Given the description of an element on the screen output the (x, y) to click on. 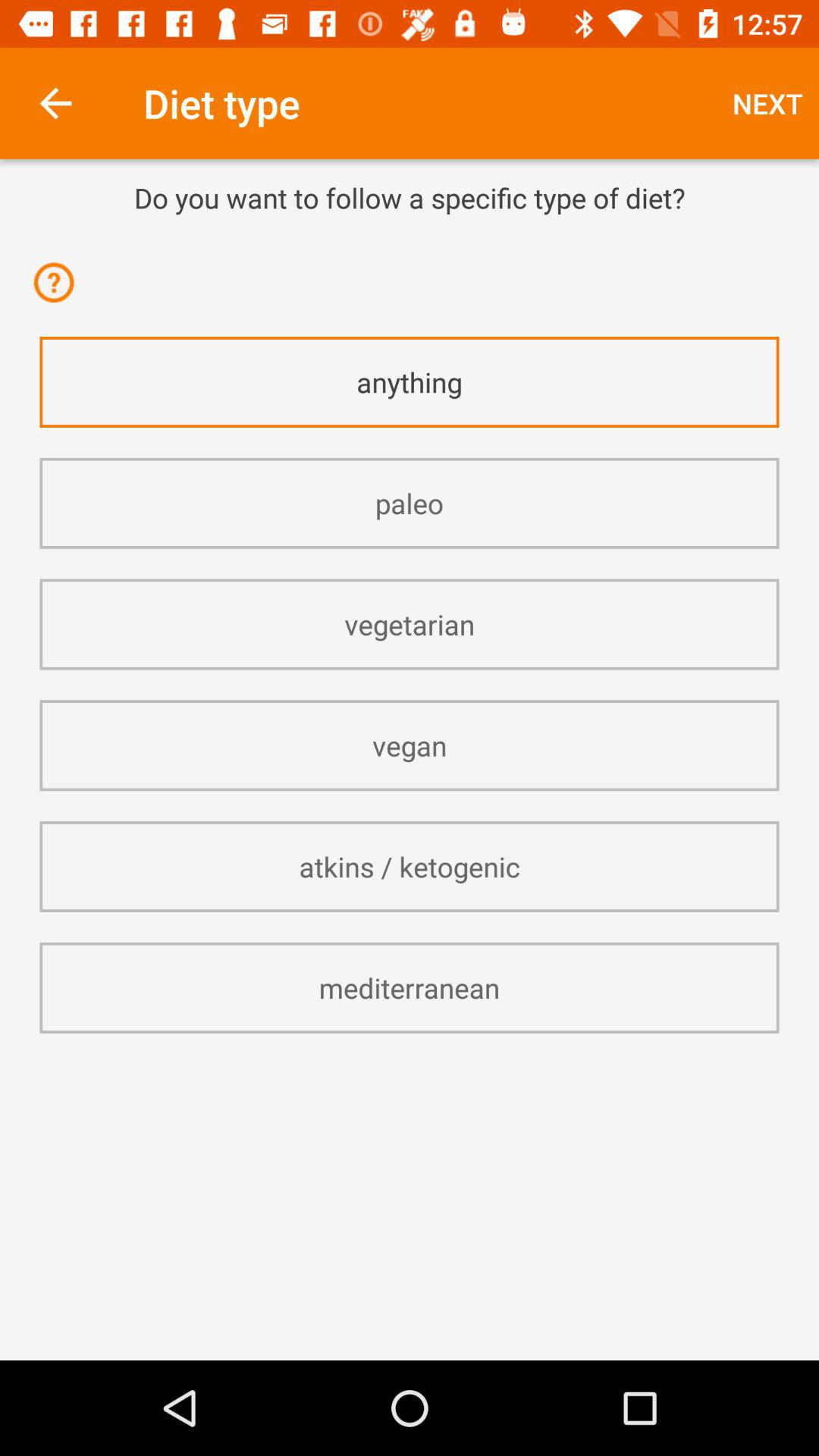
swipe to do you want icon (409, 197)
